Given the description of an element on the screen output the (x, y) to click on. 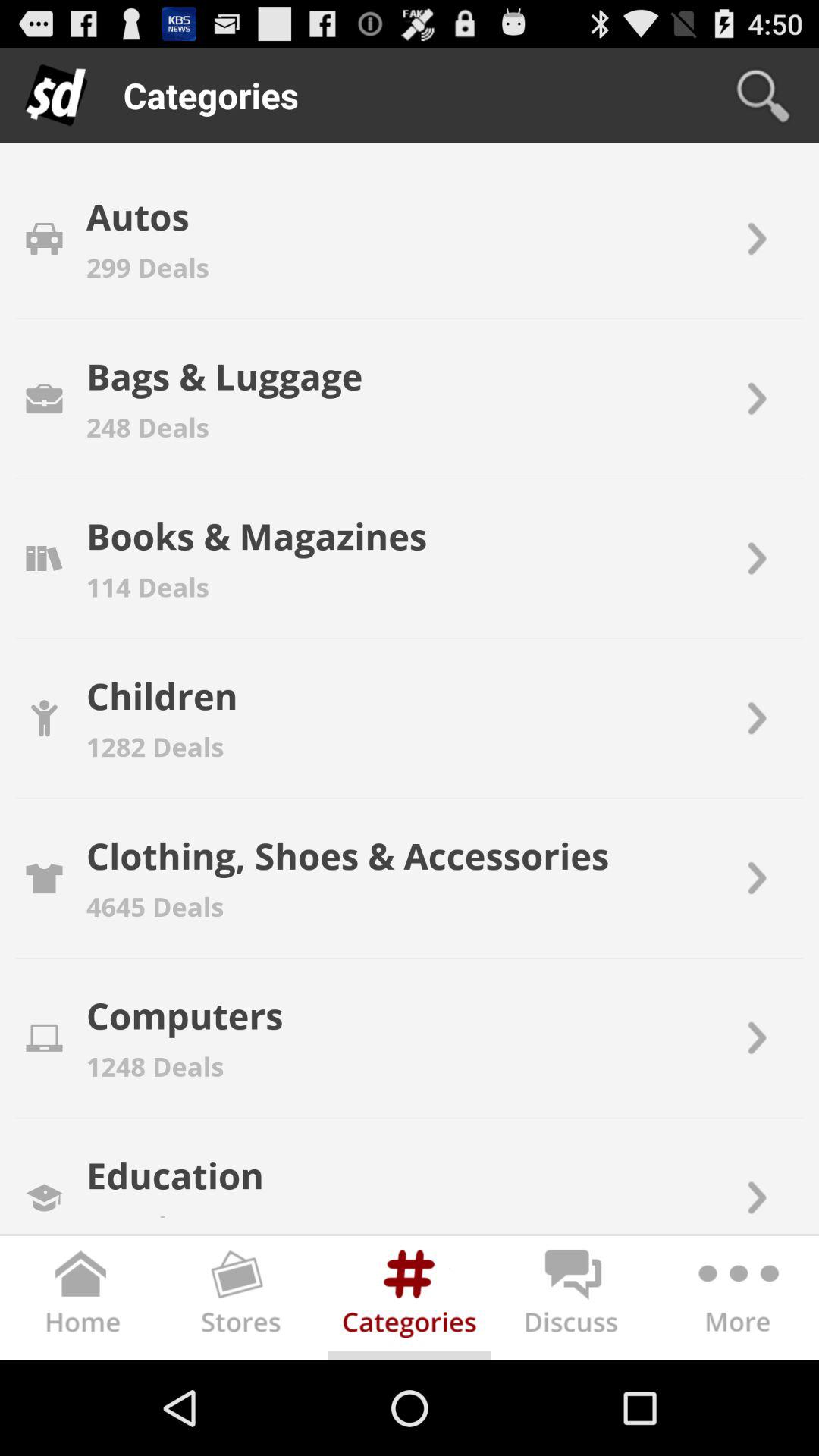
stores (245, 1301)
